Given the description of an element on the screen output the (x, y) to click on. 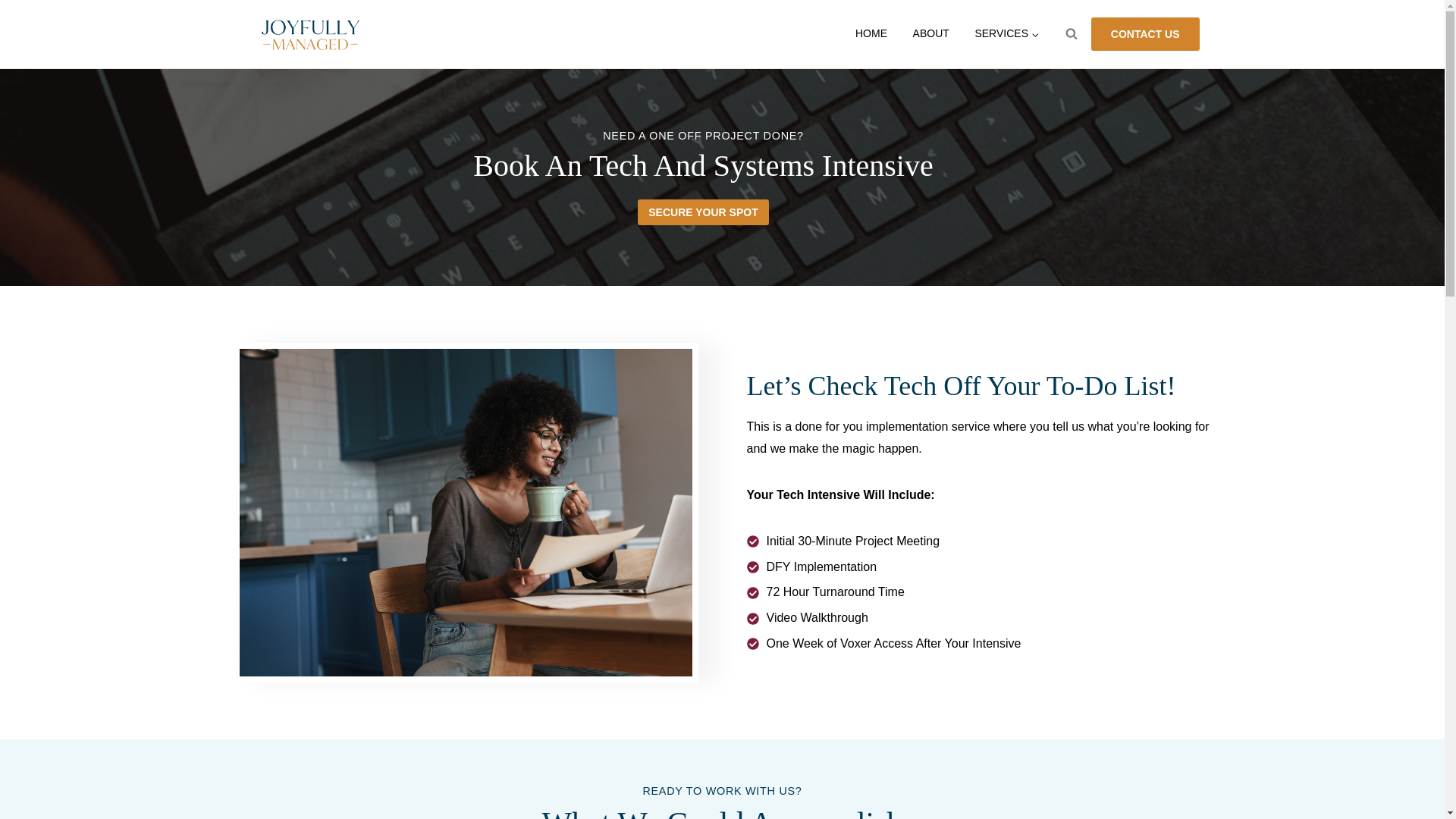
ABOUT (930, 34)
SECURE YOUR SPOT (702, 212)
HOME (871, 34)
CONTACT US (1144, 34)
SERVICES (1006, 34)
